Given the description of an element on the screen output the (x, y) to click on. 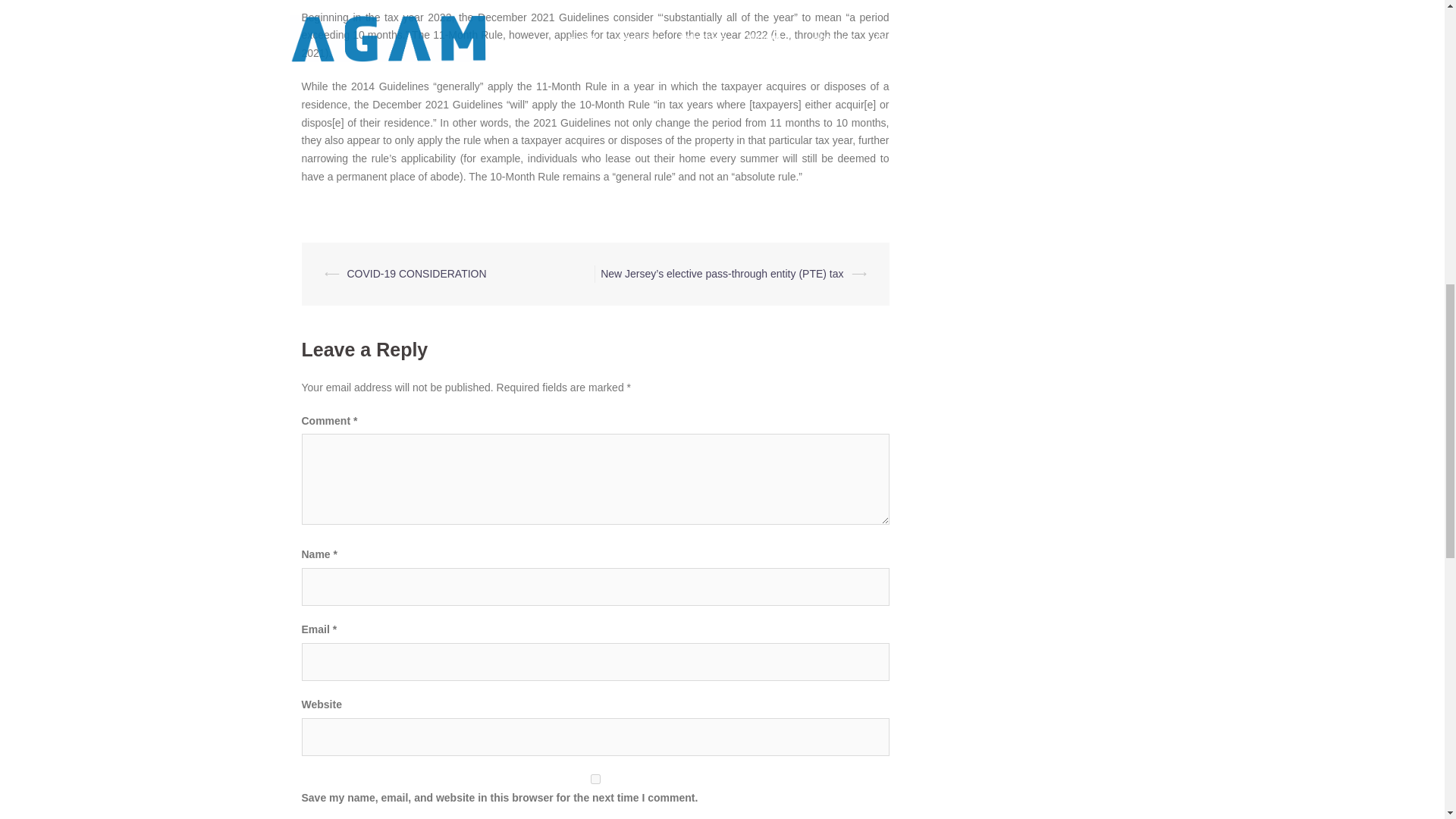
yes (595, 778)
COVID-19 CONSIDERATION (416, 273)
